Given the description of an element on the screen output the (x, y) to click on. 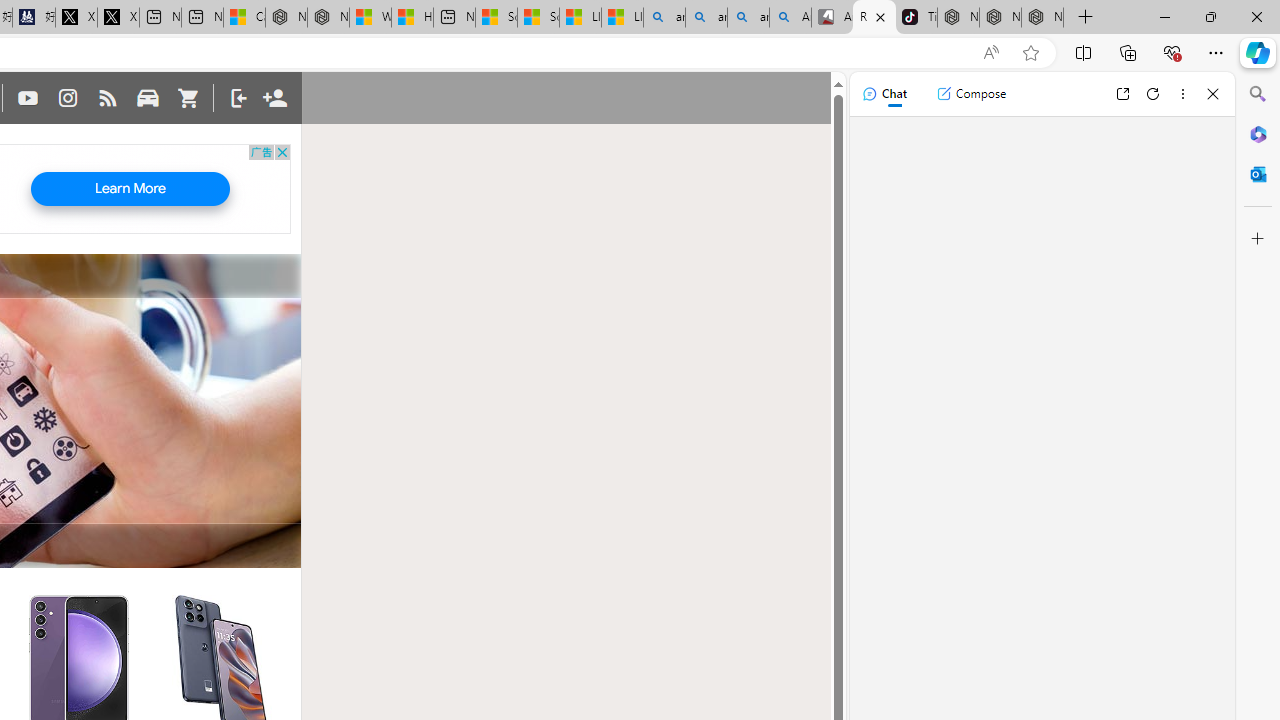
Huge shark washes ashore at New York City beach | Watch (411, 17)
amazon - Search (706, 17)
Rumored phones - GSMArena.com (873, 17)
Compose (971, 93)
Wildlife - MSN (369, 17)
Outlook (1258, 174)
TikTok (916, 17)
